Given the description of an element on the screen output the (x, y) to click on. 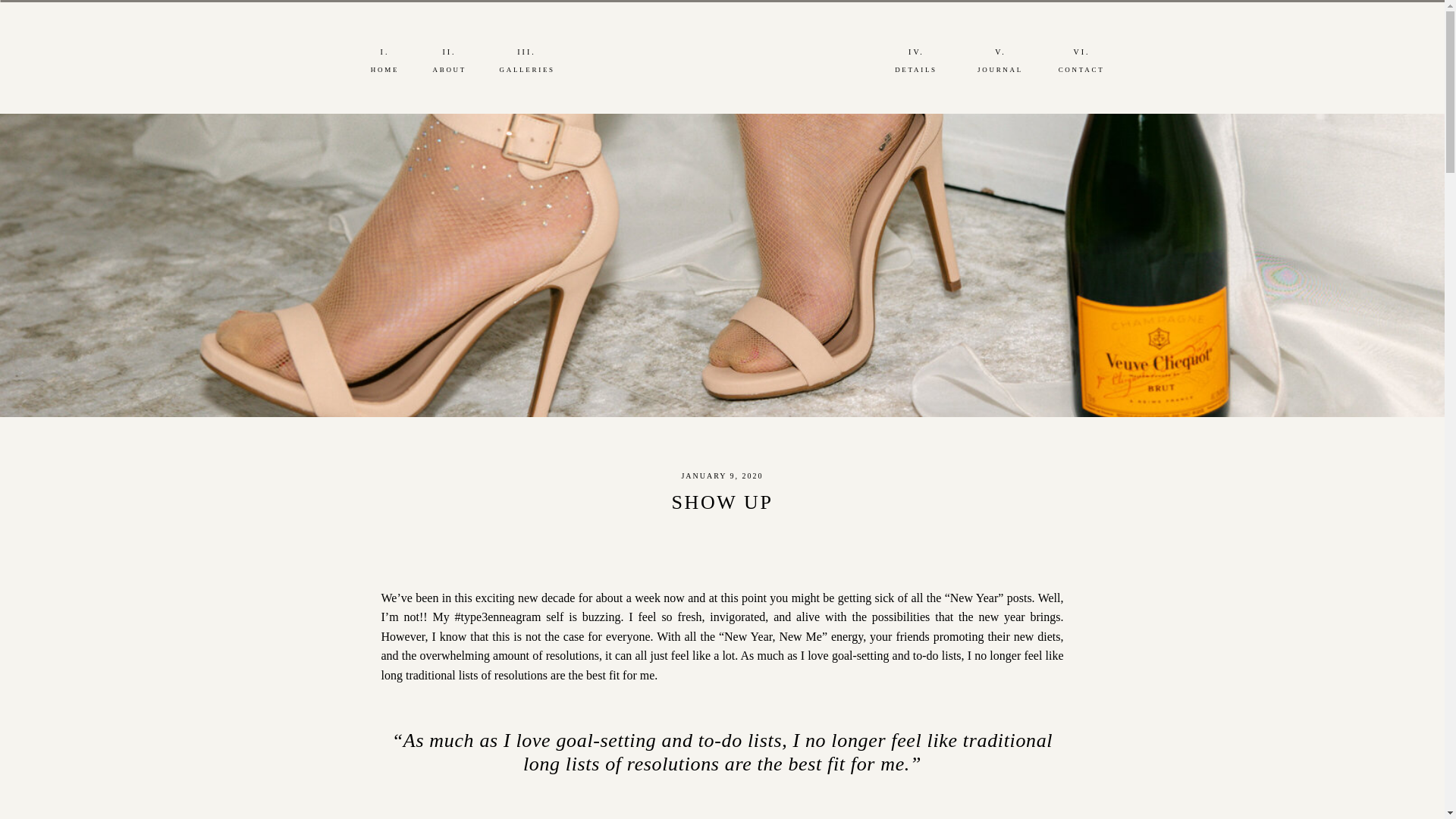
DETAILS (915, 70)
HOME (383, 70)
CONTACT (1081, 70)
JOURNAL (1000, 70)
ABOUT (448, 70)
GALLERIES (526, 70)
